Given the description of an element on the screen output the (x, y) to click on. 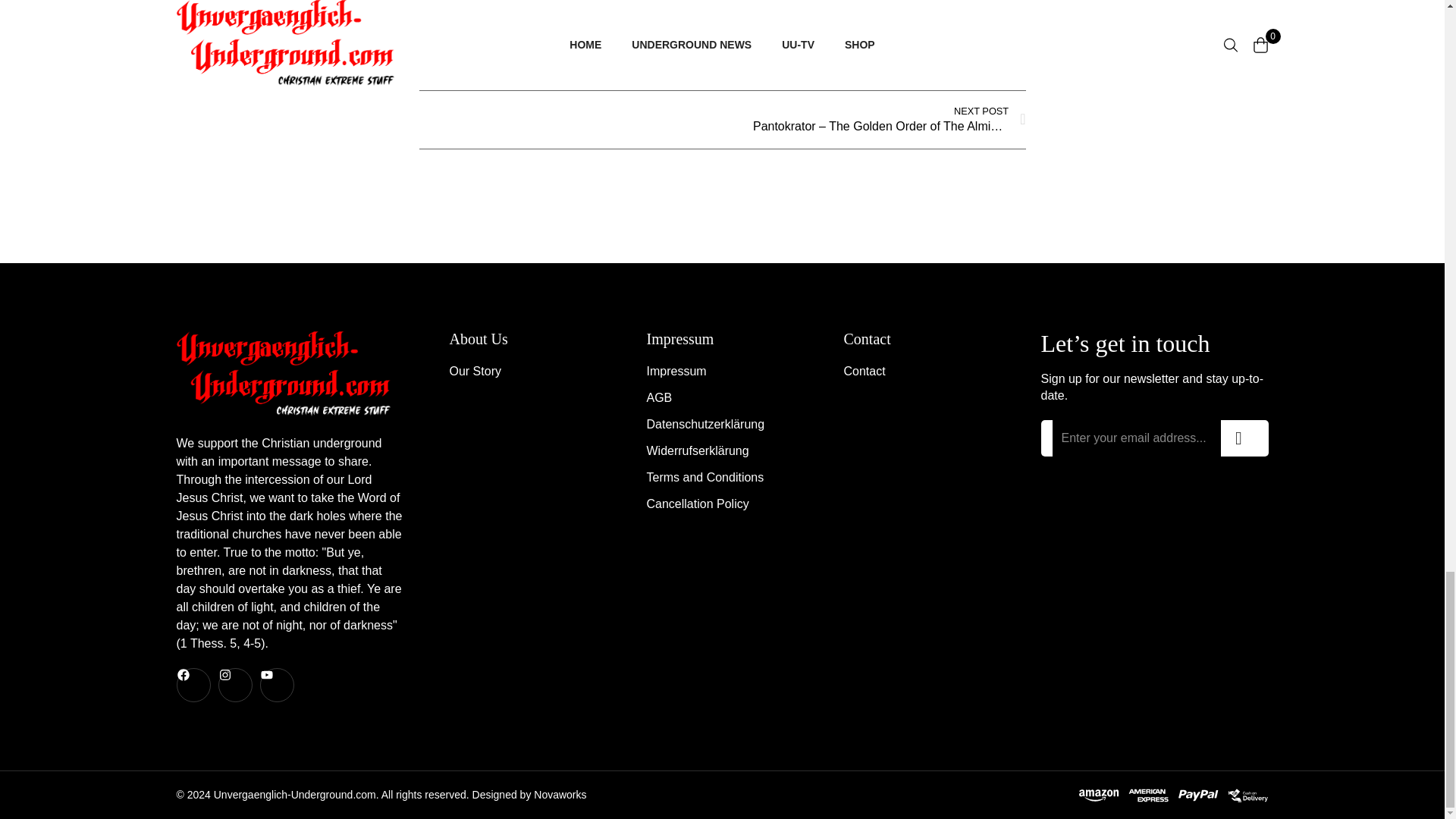
Terms and Conditions (721, 477)
Impressum (721, 371)
Our Story (523, 371)
AGB (721, 397)
Cancellation Policy (721, 504)
Contact (918, 371)
